Given the description of an element on the screen output the (x, y) to click on. 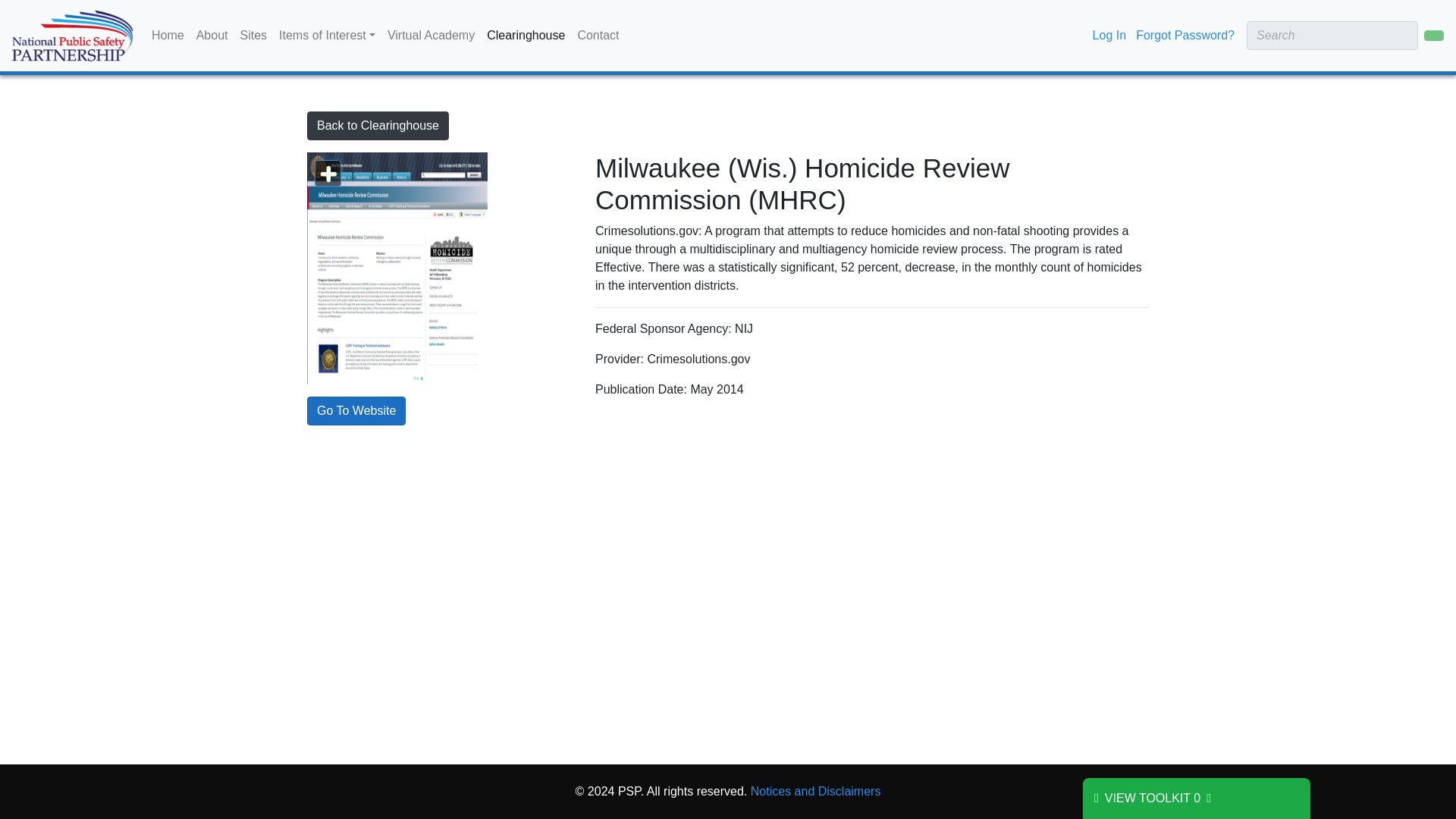
About (212, 35)
Contact (597, 35)
Notices and Disclaimers (815, 790)
Items of Interest (327, 35)
Back to Clearinghouse (377, 125)
Sites (252, 35)
Home (167, 35)
Log In (1109, 34)
Go To Website (356, 410)
Virtual Academy (430, 35)
Public Safety Partnership (628, 790)
Forgot Password? (1184, 34)
Clearinghouse (525, 35)
